Given the description of an element on the screen output the (x, y) to click on. 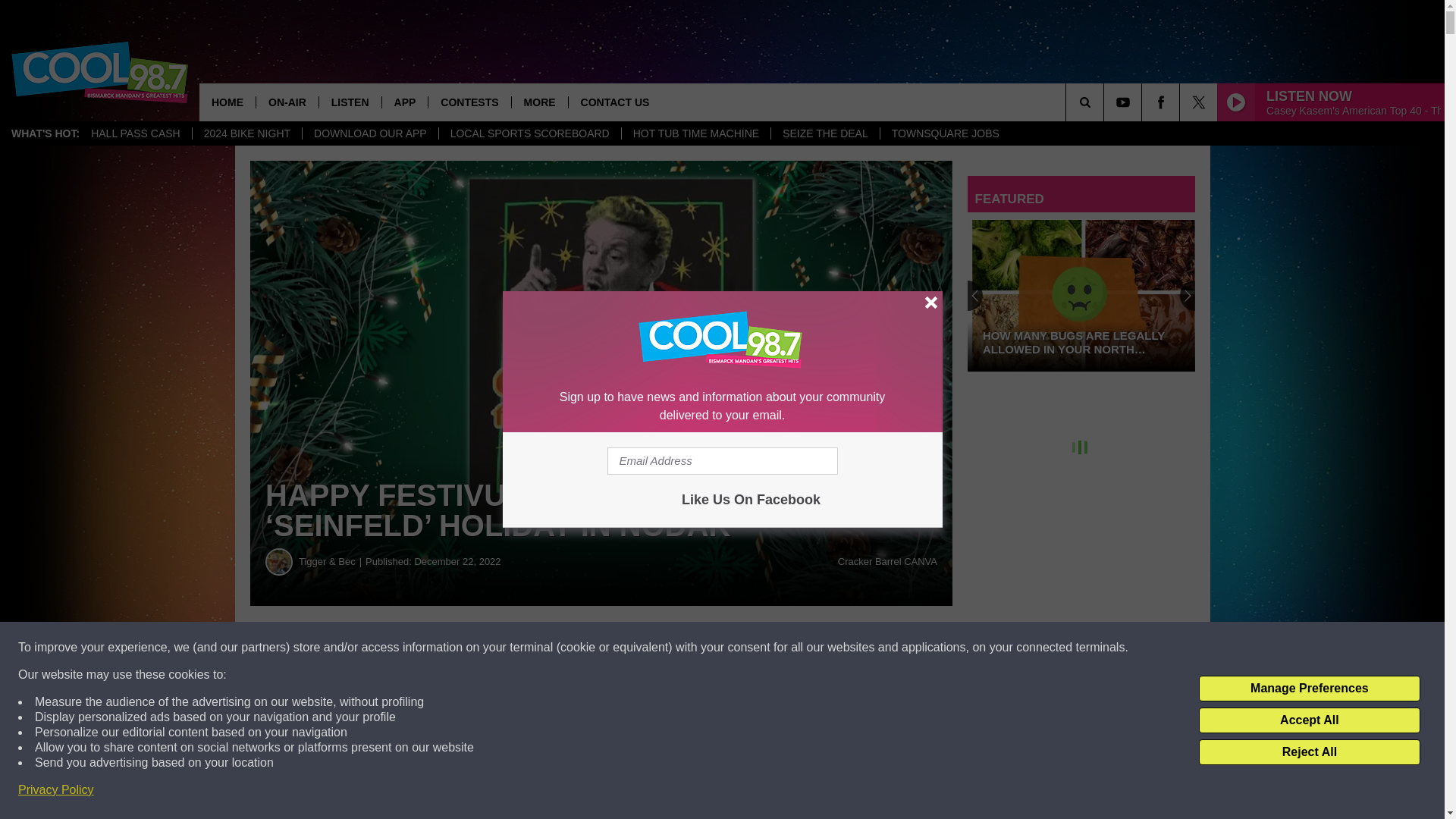
SEARCH (1106, 102)
LOCAL SPORTS SCOREBOARD (529, 133)
2024 BIKE NIGHT (246, 133)
TOWNSQUARE JOBS (944, 133)
Email Address (722, 461)
HOT TUB TIME MACHINE (695, 133)
Manage Preferences (1309, 688)
APP (404, 102)
Share on Twitter (741, 647)
DOWNLOAD OUR APP (369, 133)
HOME (227, 102)
SEARCH (1106, 102)
Reject All (1309, 751)
MORE (539, 102)
Share on Facebook (460, 647)
